Given the description of an element on the screen output the (x, y) to click on. 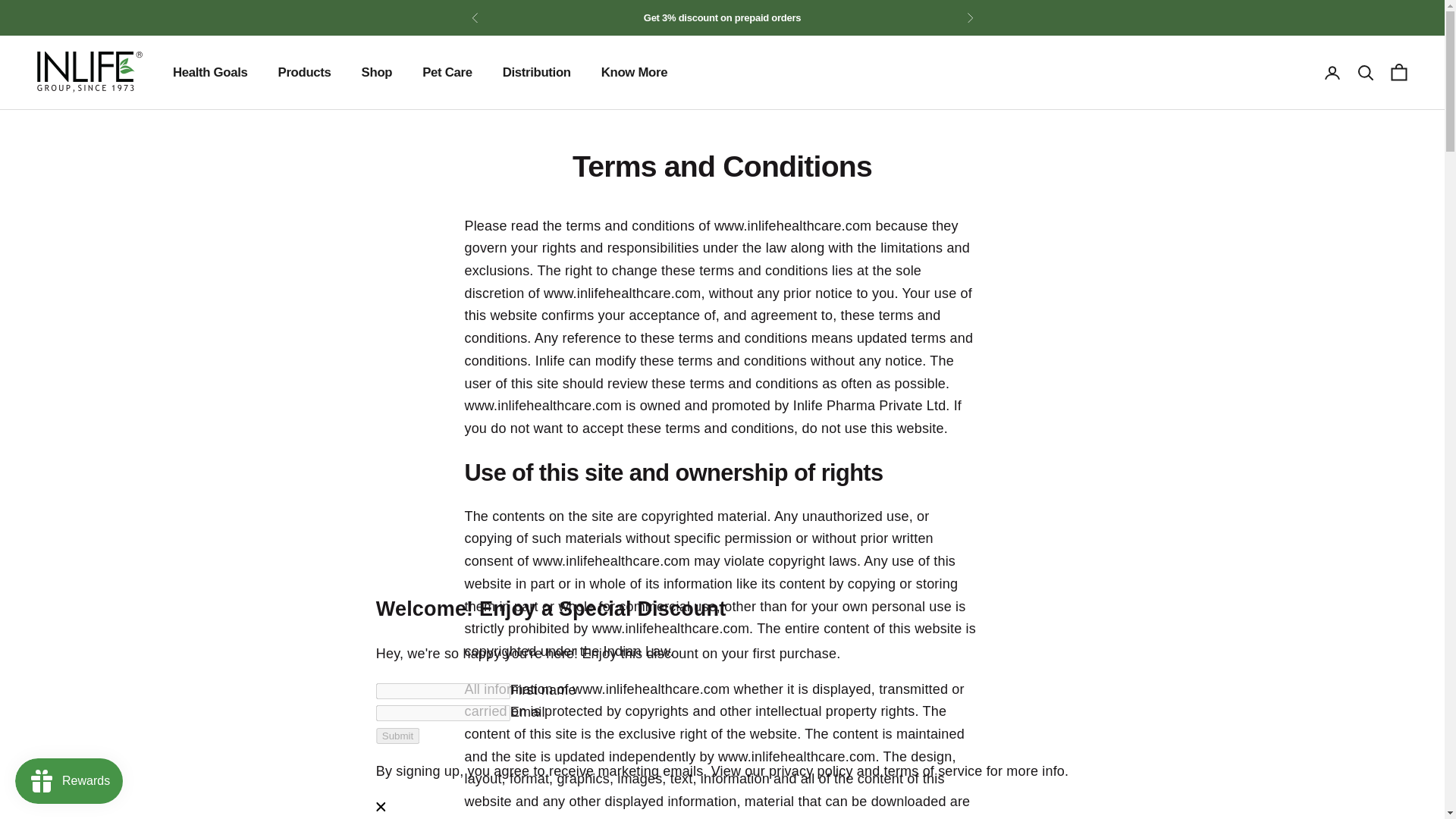
Inlife Pharma Private Limited (89, 72)
Smile.io Rewards Program Launcher (68, 780)
